Given the description of an element on the screen output the (x, y) to click on. 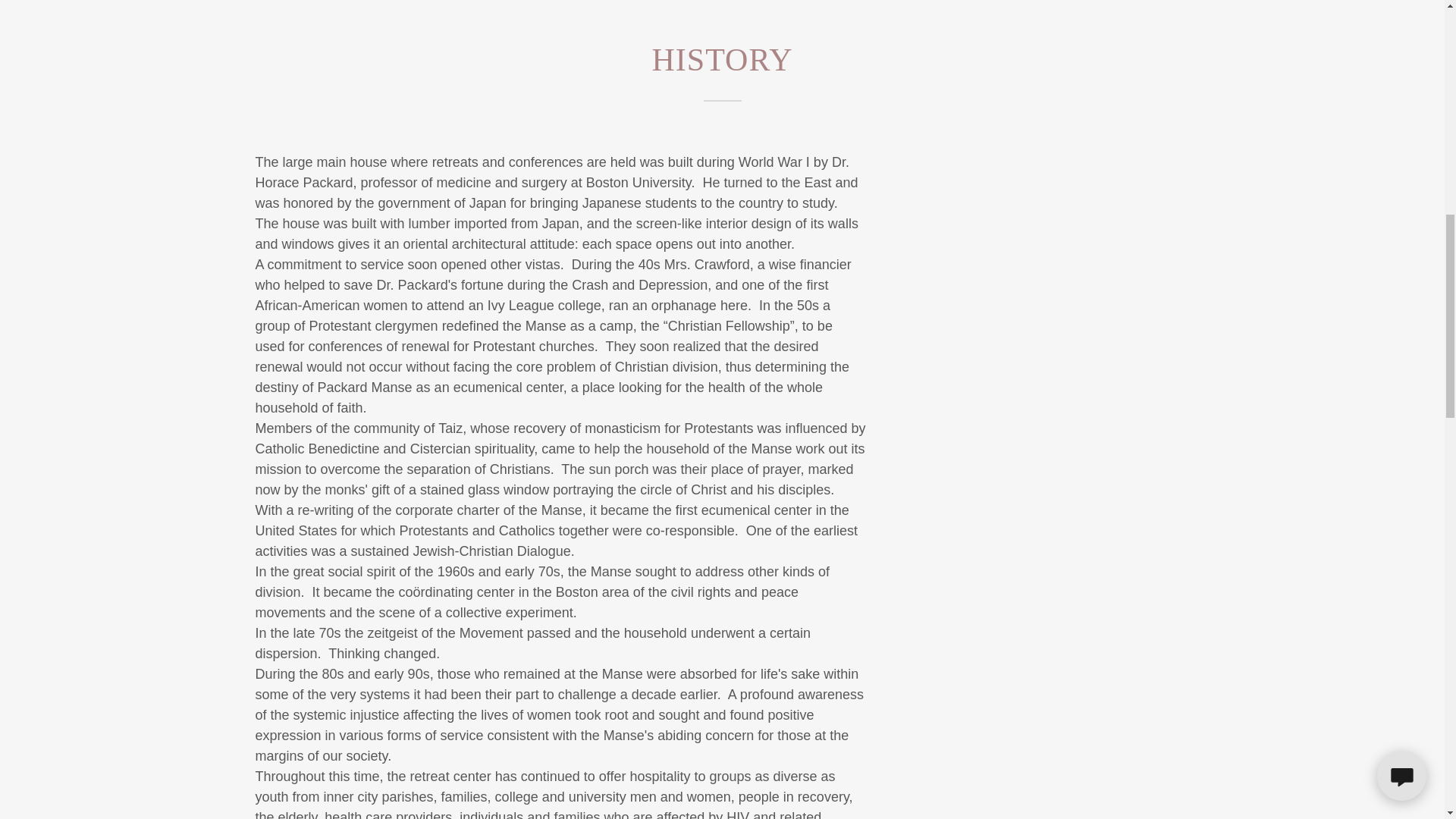
ACCEPT (1274, 324)
